Given the description of an element on the screen output the (x, y) to click on. 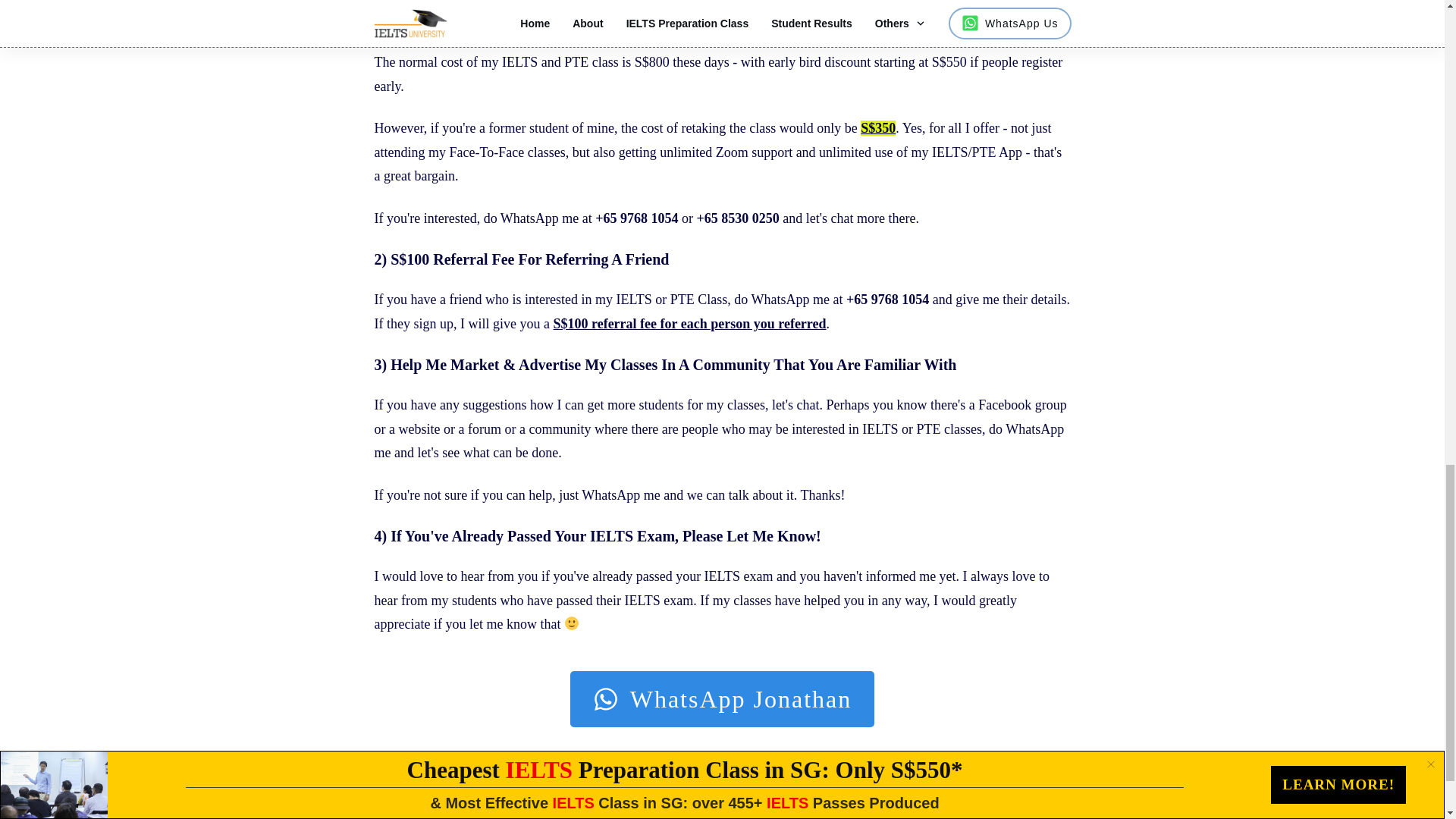
Privacy Policy (748, 795)
WhatsApp Jonathan (722, 698)
Disclaimer (935, 795)
Terms And Conditions (846, 795)
